Given the description of an element on the screen output the (x, y) to click on. 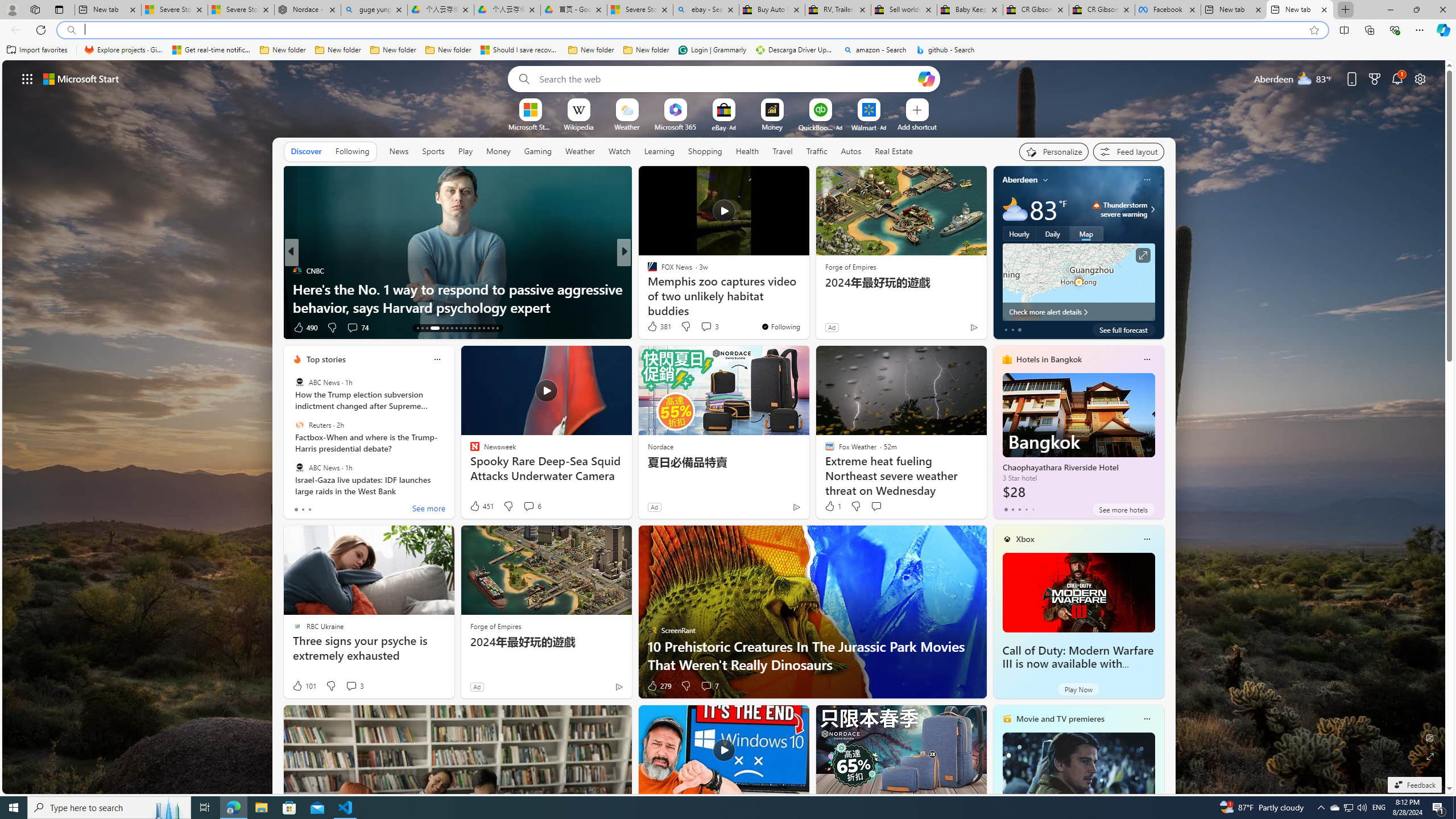
View comments 7 Comment (705, 685)
hotels-header-icon (1006, 358)
Sell worldwide with eBay (904, 9)
RV, Trailer & Camper Steps & Ladders for sale | eBay (838, 9)
451 Like (480, 505)
Travel (782, 151)
AutomationID: backgroundImagePicture (723, 426)
43 Like (652, 327)
Personalize your feed" (1054, 151)
Xbox (1025, 538)
